Given the description of an element on the screen output the (x, y) to click on. 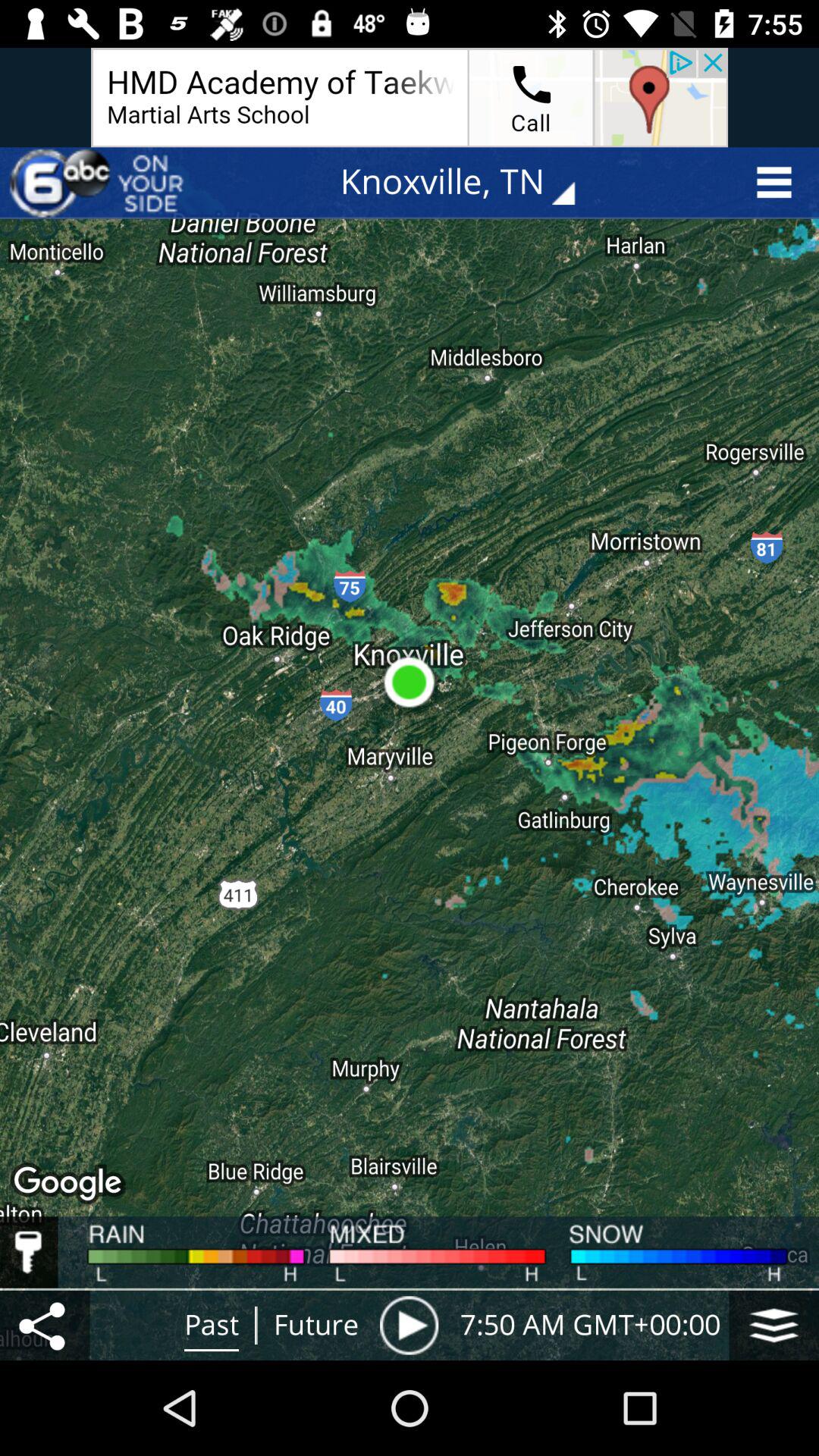
launch the item to the left of past item (44, 1325)
